Given the description of an element on the screen output the (x, y) to click on. 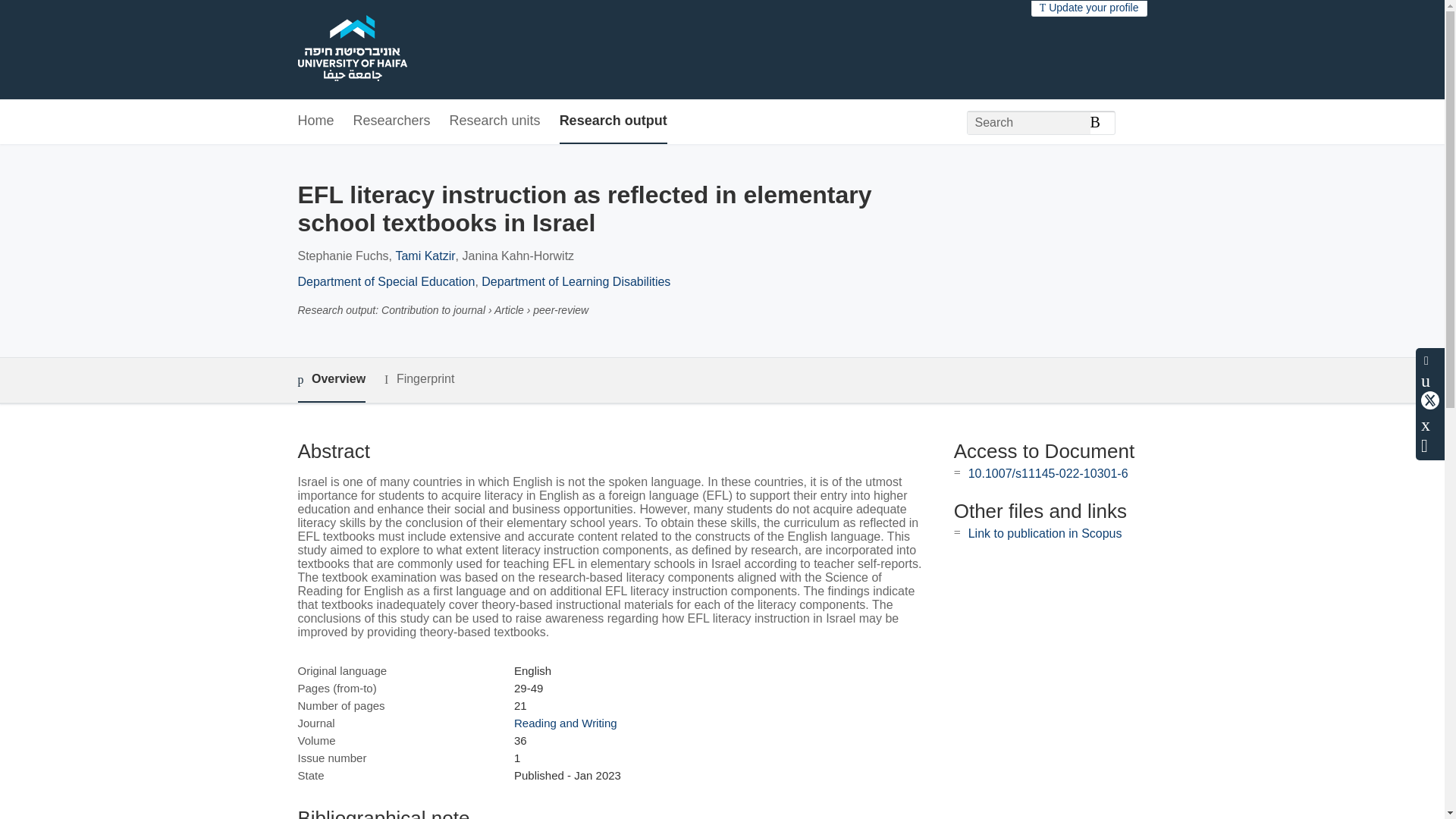
Department of Special Education (385, 281)
Research output (612, 121)
Link to publication in Scopus (1045, 533)
Tami Katzir (424, 255)
Department of Learning Disabilities (575, 281)
Research units (494, 121)
Fingerprint (419, 379)
Overview (331, 379)
Researchers (391, 121)
Home (315, 121)
University of Haifa Home (351, 49)
Update your profile (1089, 7)
Reading and Writing (565, 722)
